Given the description of an element on the screen output the (x, y) to click on. 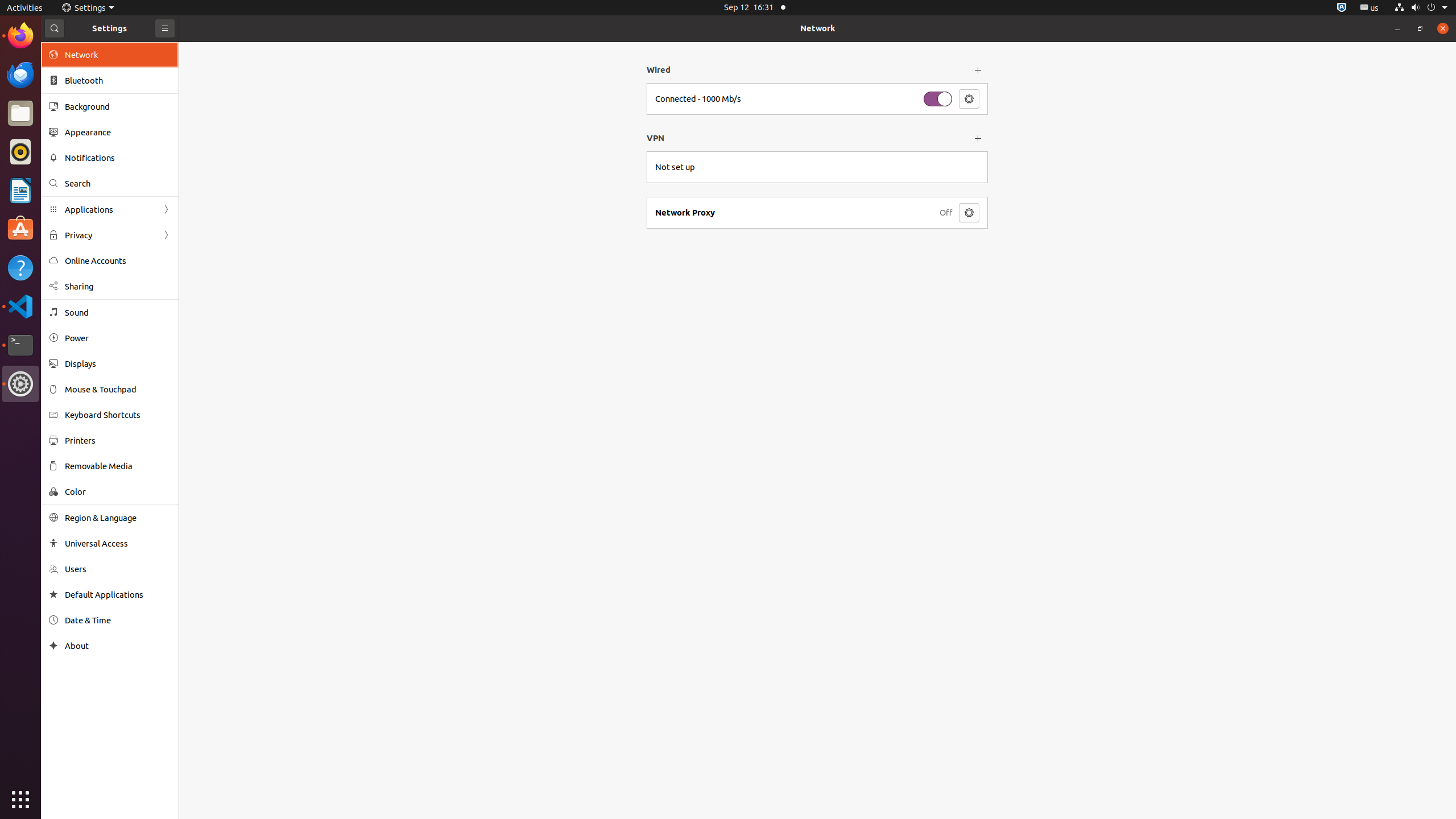
Sound Element type: label (117, 312)
Not set up Element type: label (675, 166)
Background Element type: label (117, 106)
Terminal Element type: push-button (20, 344)
Default Applications Element type: label (117, 594)
